Given the description of an element on the screen output the (x, y) to click on. 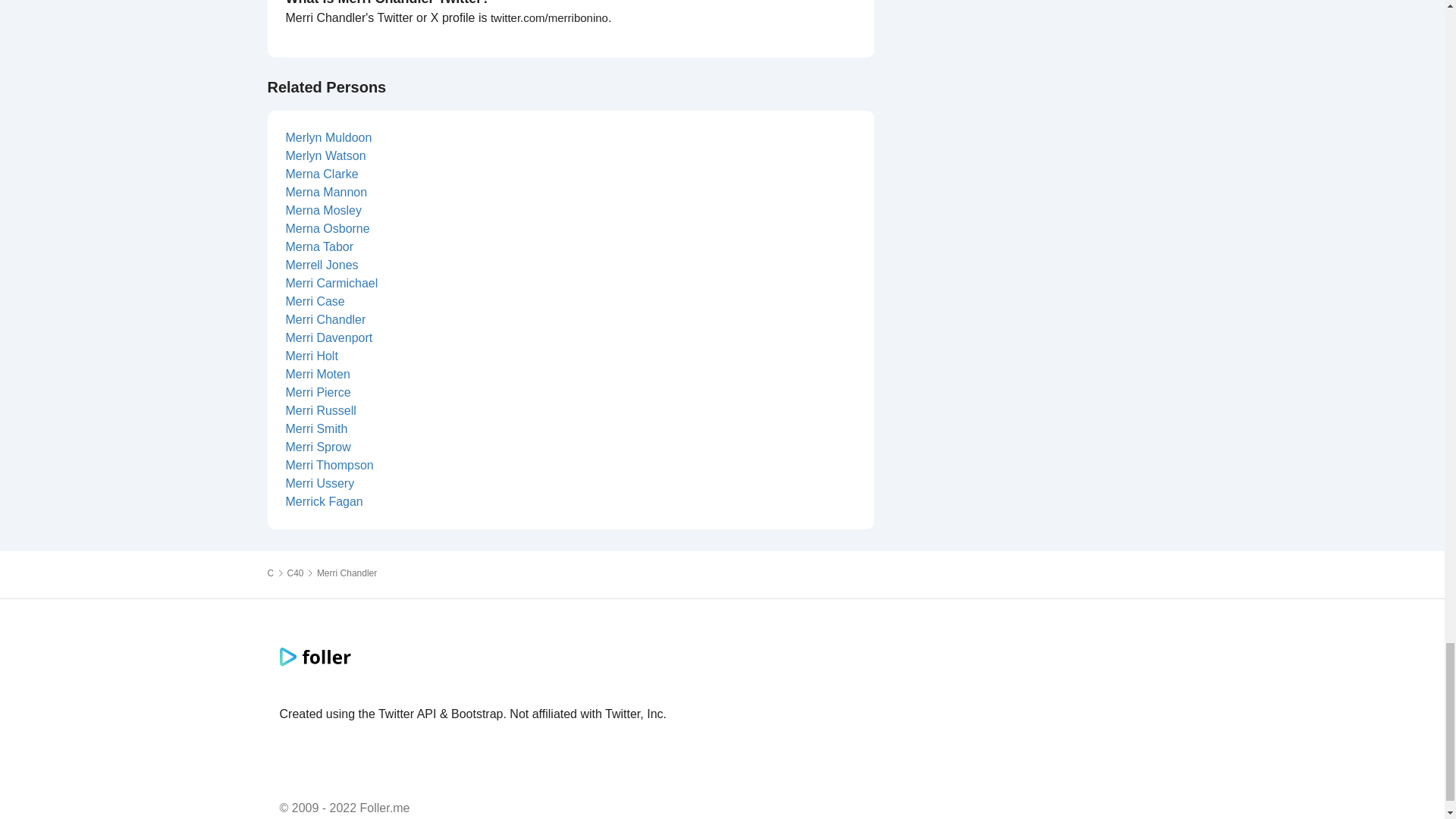
Merri Chandler Social Profiles (347, 573)
Surnames Starting with C - Page 40 (295, 573)
